Given the description of an element on the screen output the (x, y) to click on. 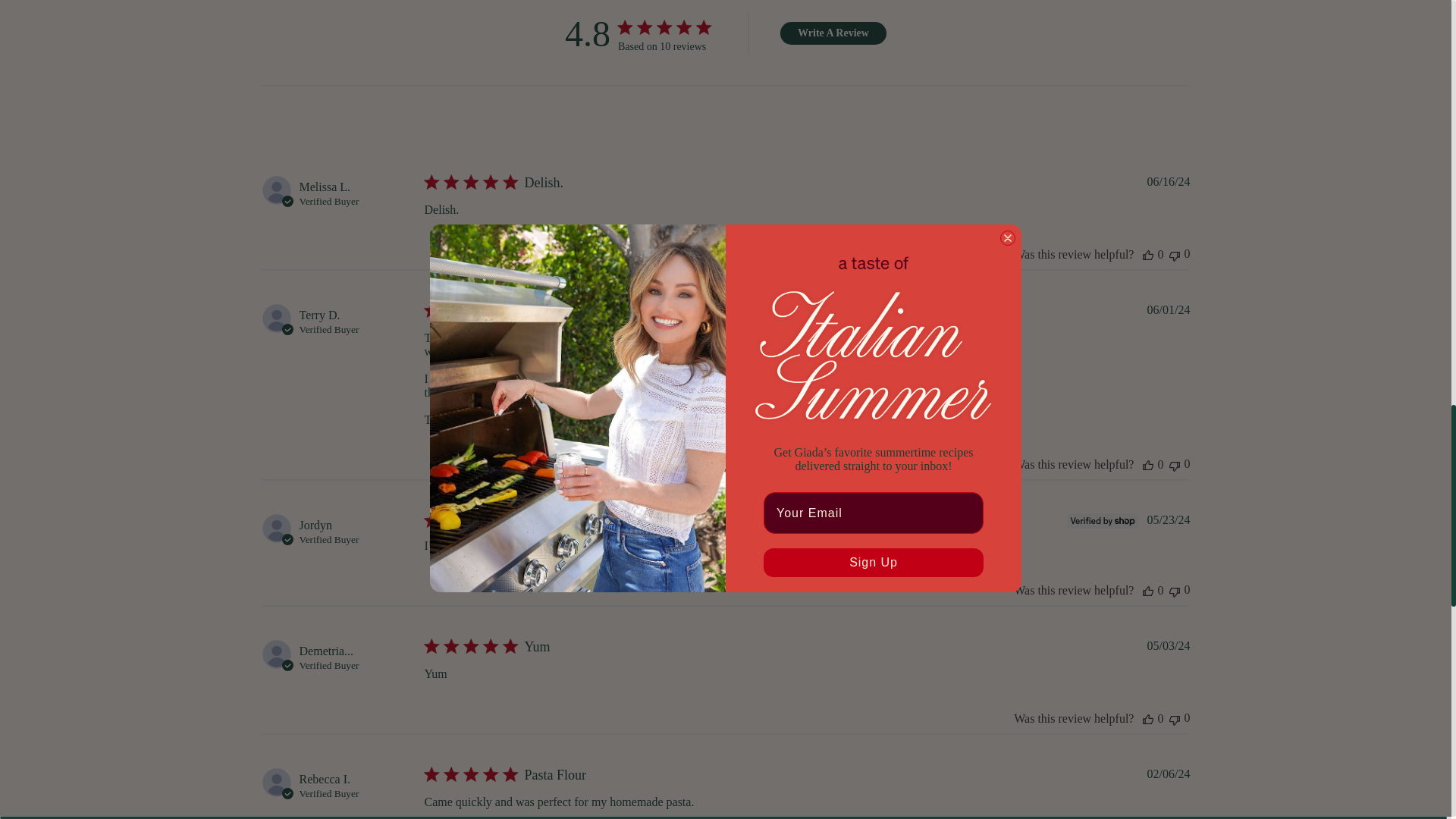
Melissa L. (324, 187)
Jordyn (316, 525)
Demetria K. (326, 651)
Terry D. (319, 315)
Abstract user icon (277, 190)
